Given the description of an element on the screen output the (x, y) to click on. 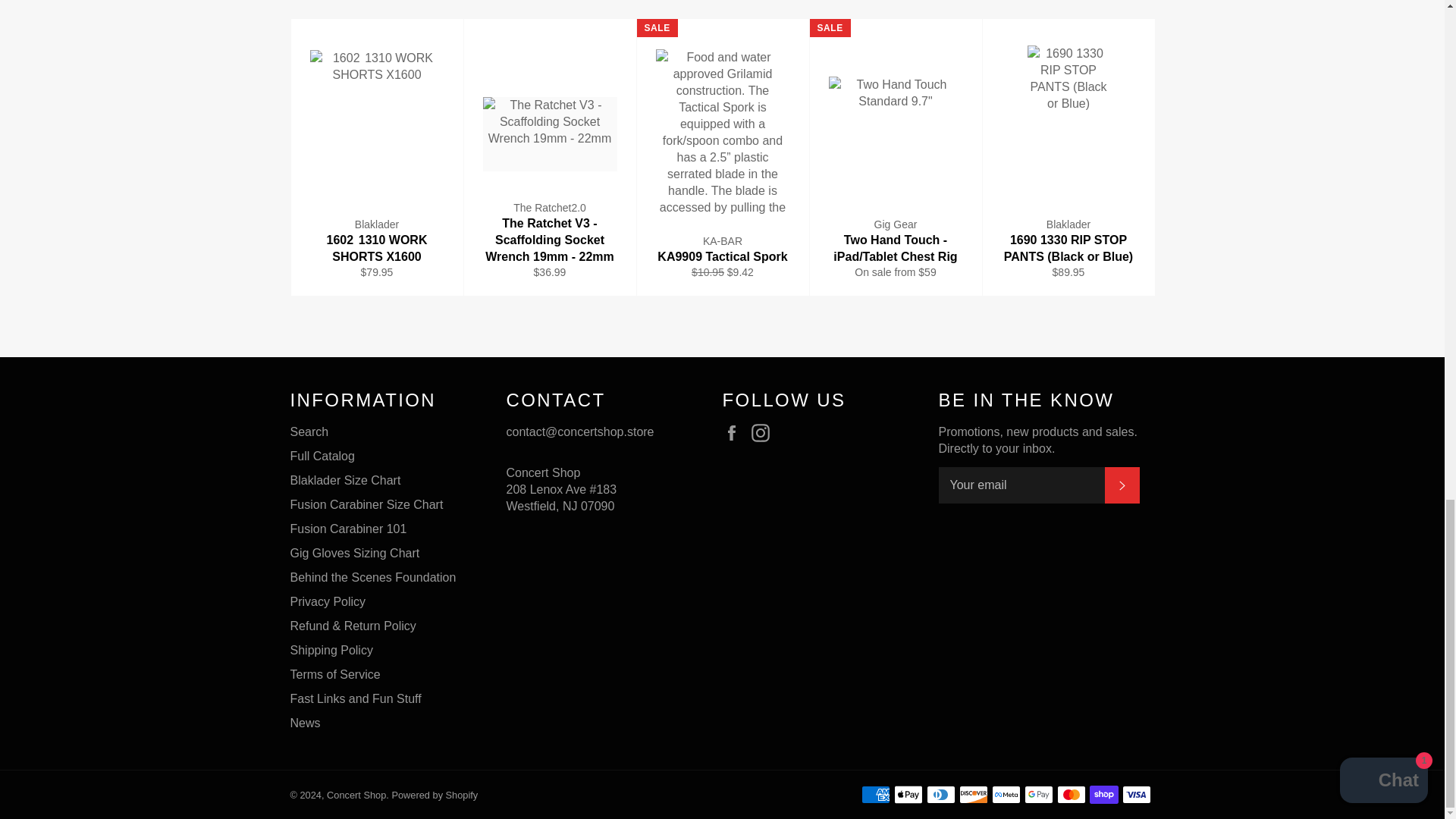
Concert Shop on Instagram (764, 433)
Concert Shop on Facebook (735, 433)
